Given the description of an element on the screen output the (x, y) to click on. 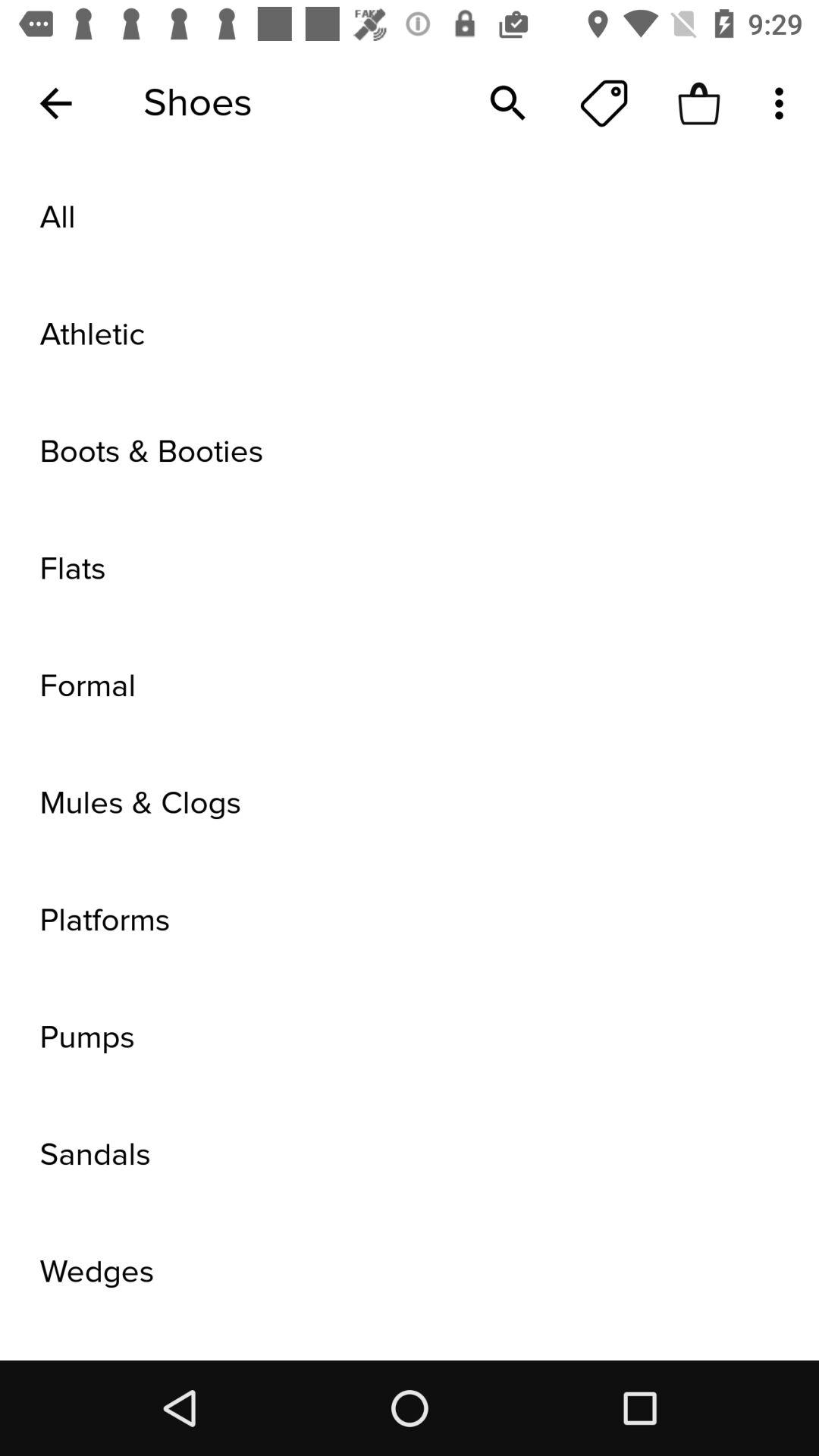
choose the item above all item (508, 103)
